Given the description of an element on the screen output the (x, y) to click on. 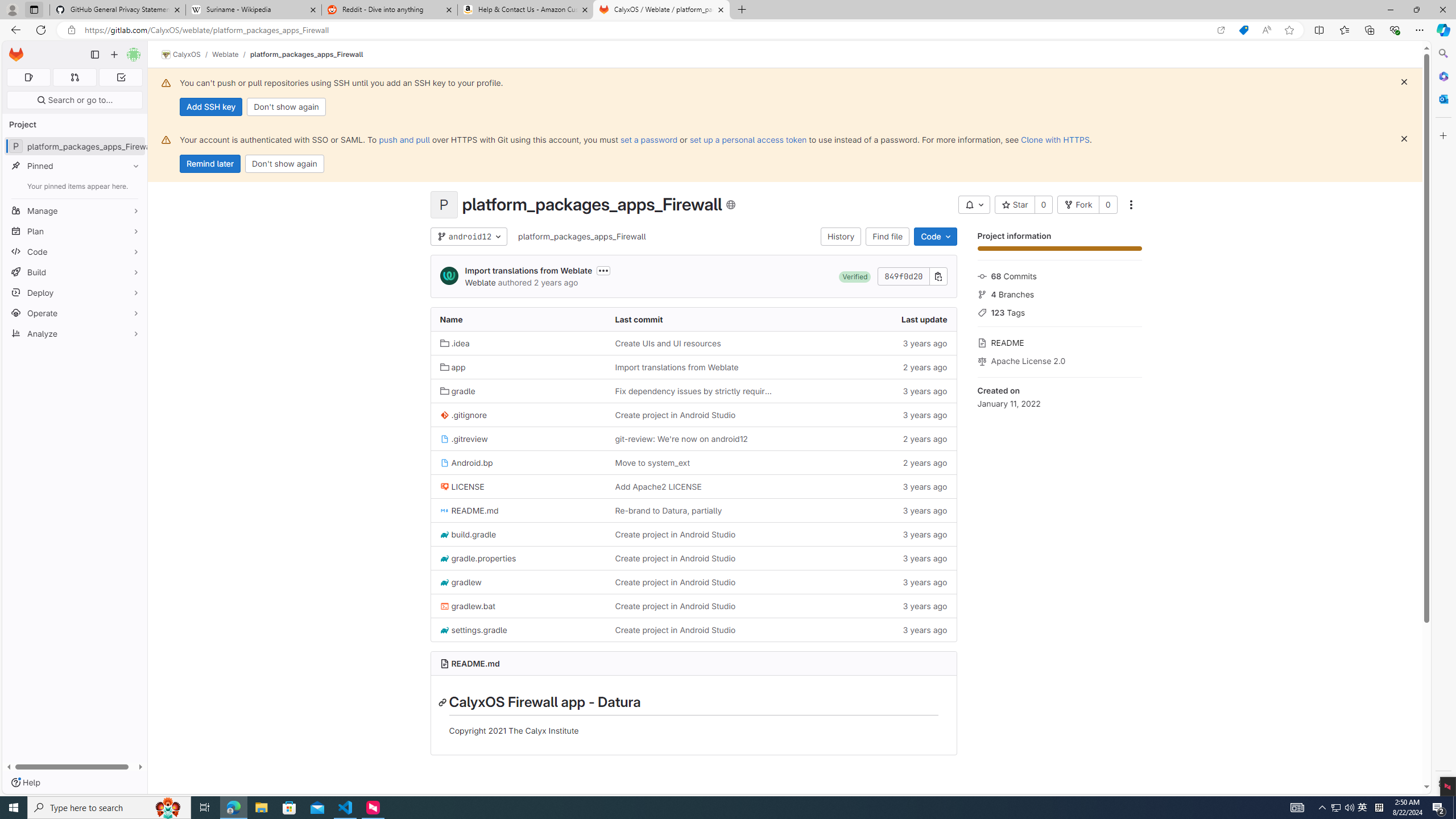
.gitignore (517, 414)
Code (74, 251)
Class: s16 gl-icon gl-button-icon  (1404, 138)
Import translations from Weblate (693, 366)
CalyxOS/ (186, 54)
Apache License 2.0 (1058, 359)
AutomationID: __BVID__303__BV_toggle_ (974, 204)
68 Commits (1058, 274)
